Given the description of an element on the screen output the (x, y) to click on. 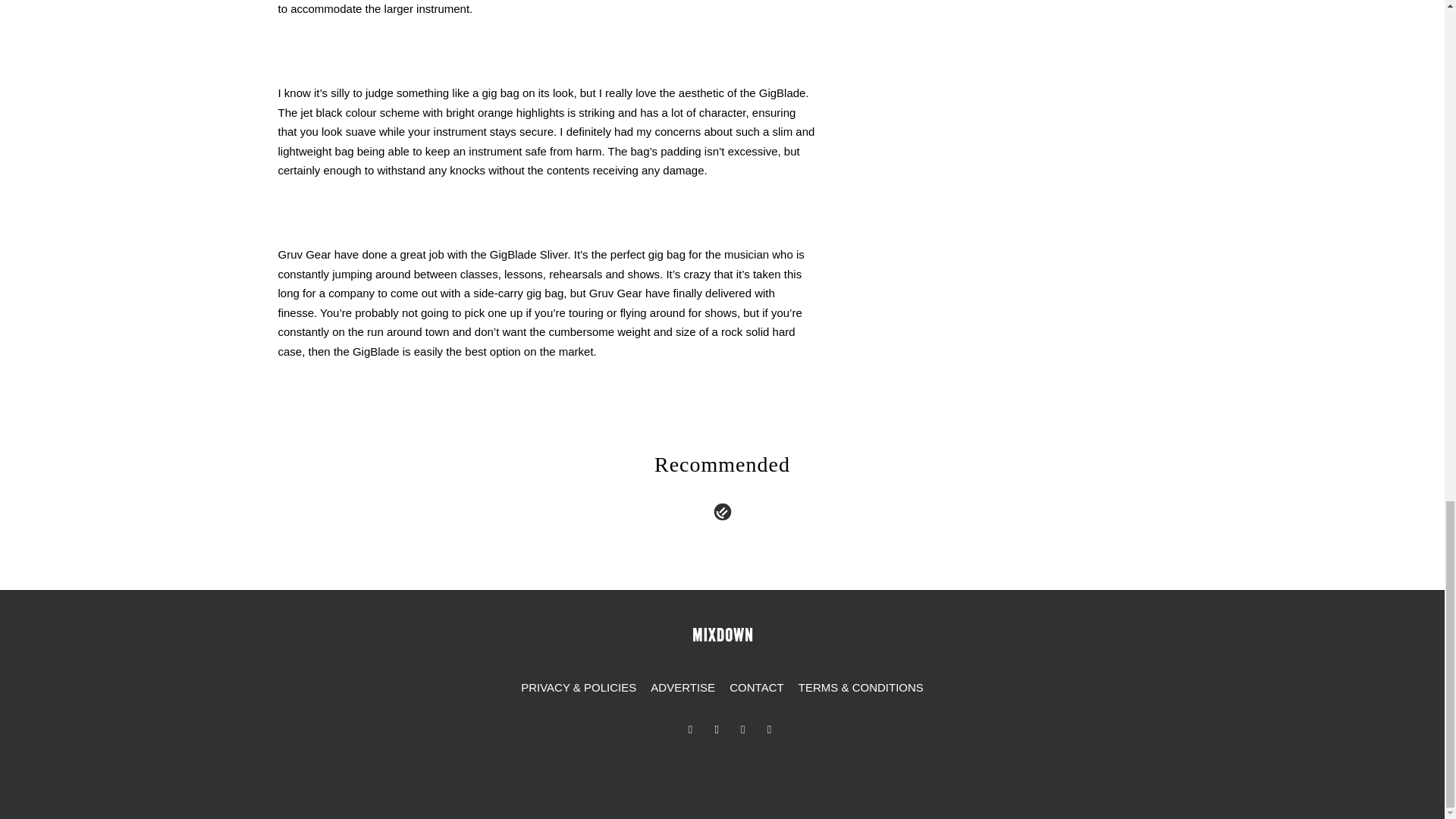
ADVERTISE (682, 687)
CONTACT (756, 687)
